Given the description of an element on the screen output the (x, y) to click on. 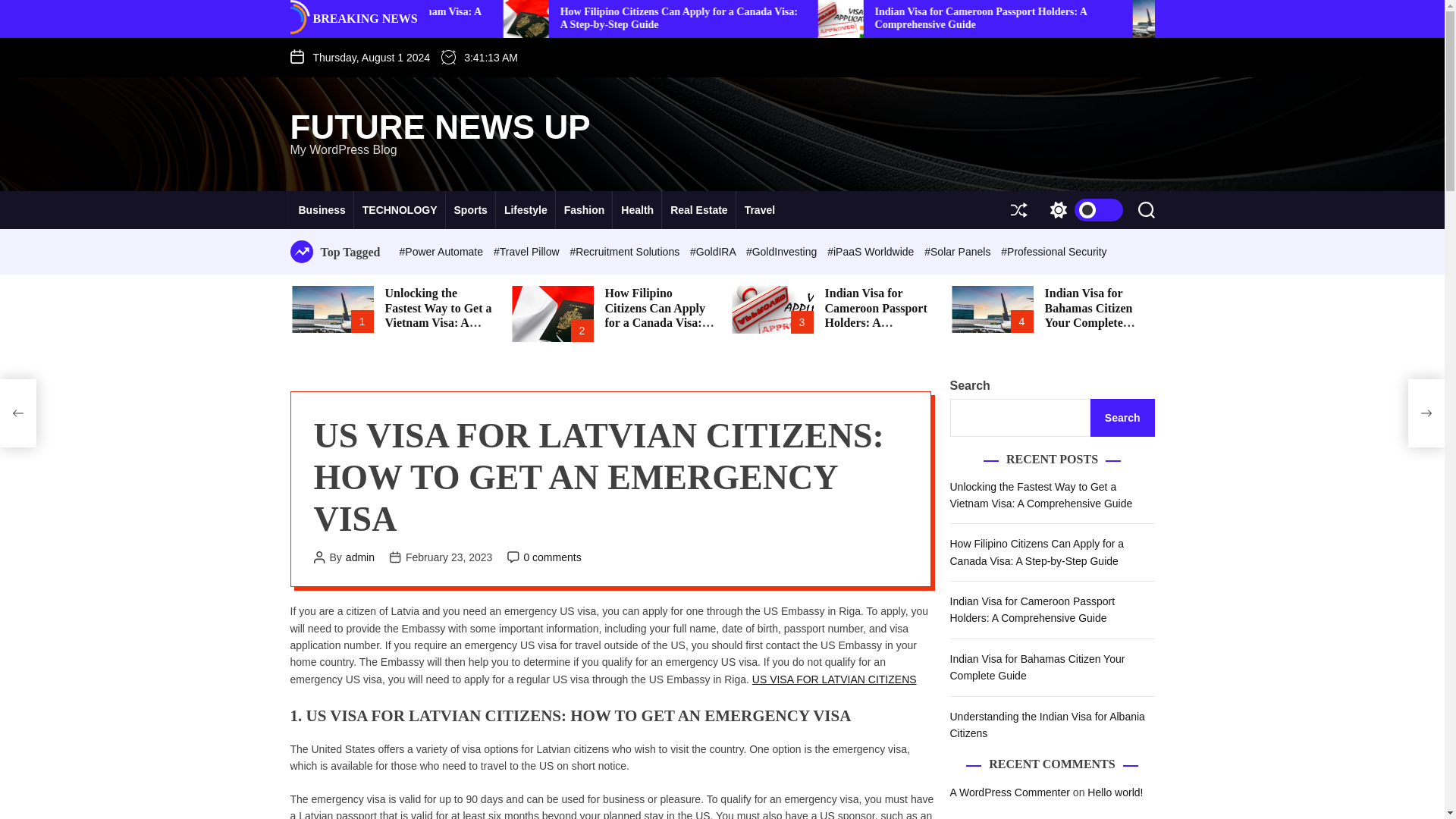
Business (321, 209)
TECHNOLOGY (399, 209)
FUTURE NEWS UP (439, 127)
